Given the description of an element on the screen output the (x, y) to click on. 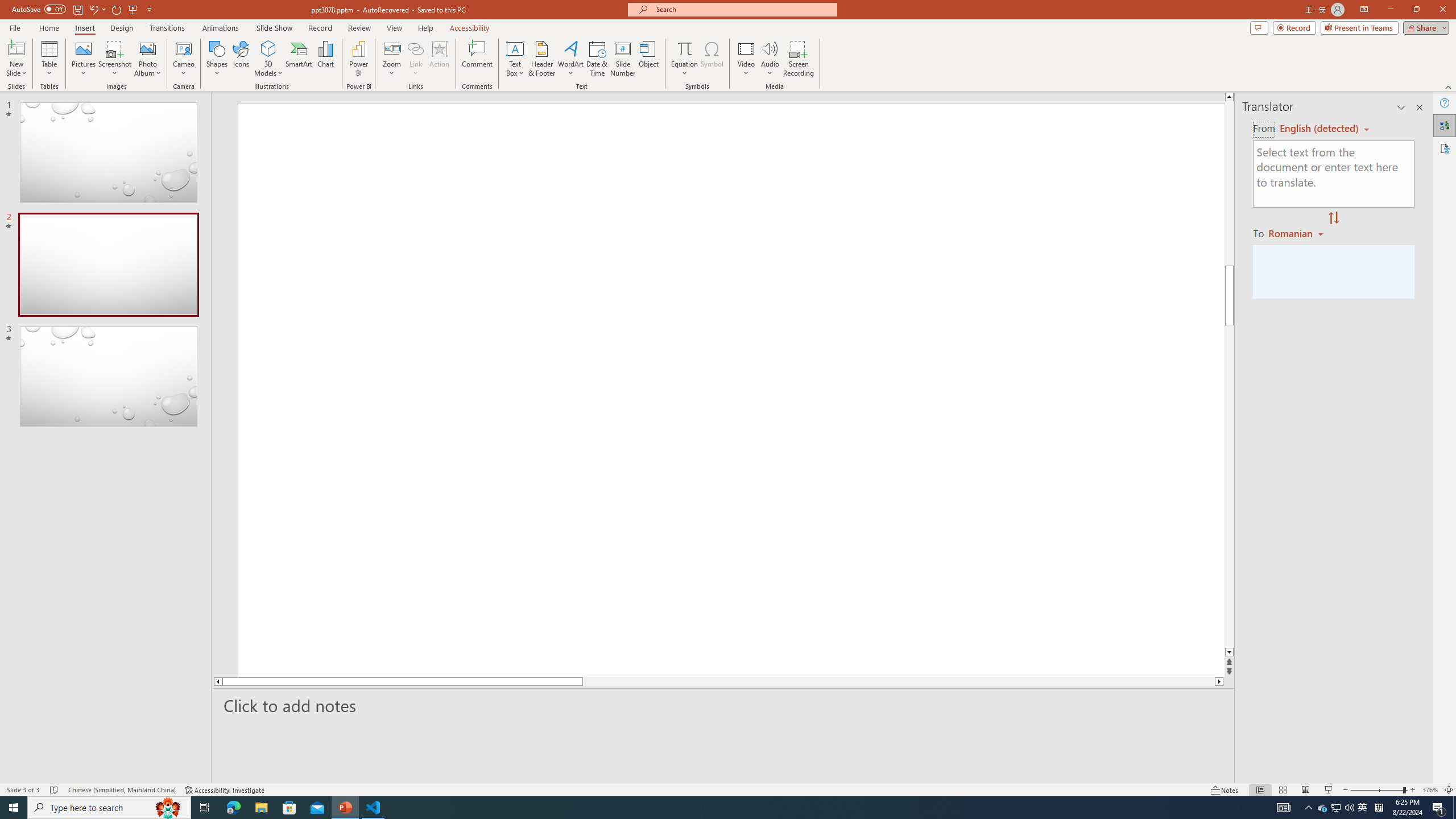
Audio (769, 58)
Screenshot (114, 58)
Pictures (83, 58)
